Given the description of an element on the screen output the (x, y) to click on. 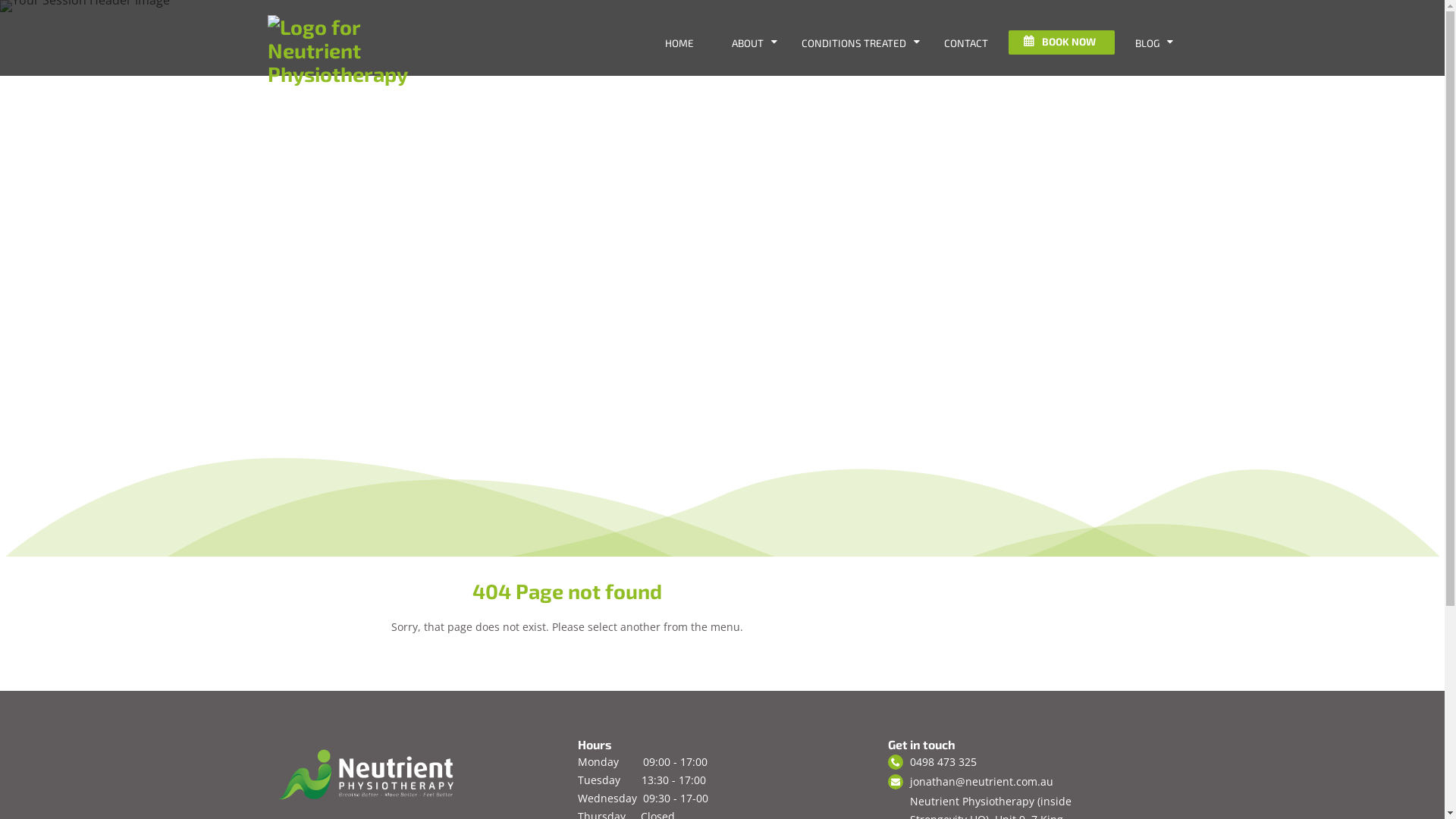
BOOK NOW Element type: text (1061, 41)
CONTACT Element type: text (966, 43)
Visit the Neutrient Physiotherapy Home Page Element type: hover (357, 73)
ABOUT Element type: text (747, 43)
BLOG Element type: text (1147, 43)
jonathan@neutrient.com.au Element type: text (981, 781)
HOME Element type: text (679, 43)
CONDITIONS TREATED Element type: text (853, 43)
